Given the description of an element on the screen output the (x, y) to click on. 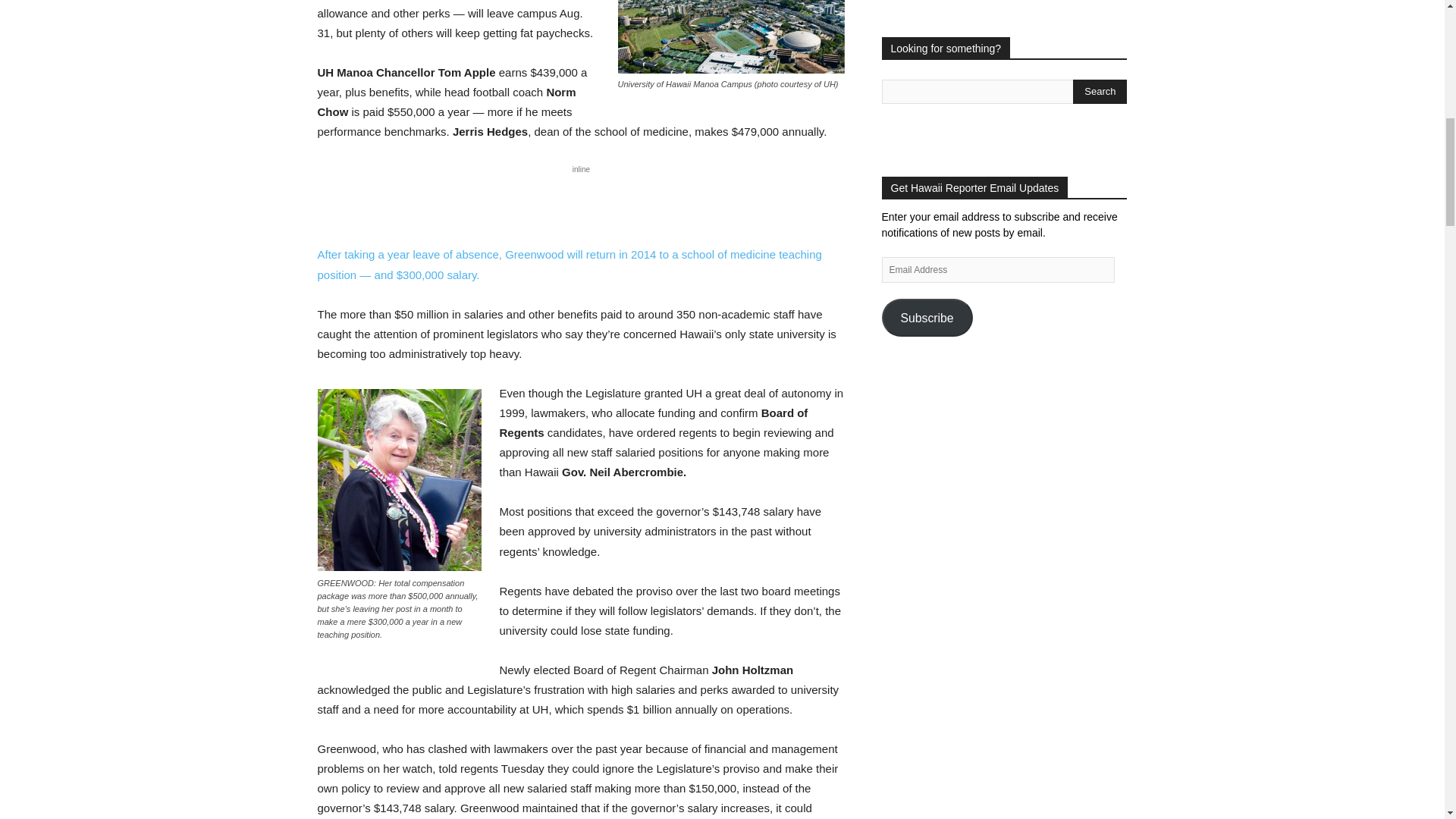
Search (1099, 91)
